Given the description of an element on the screen output the (x, y) to click on. 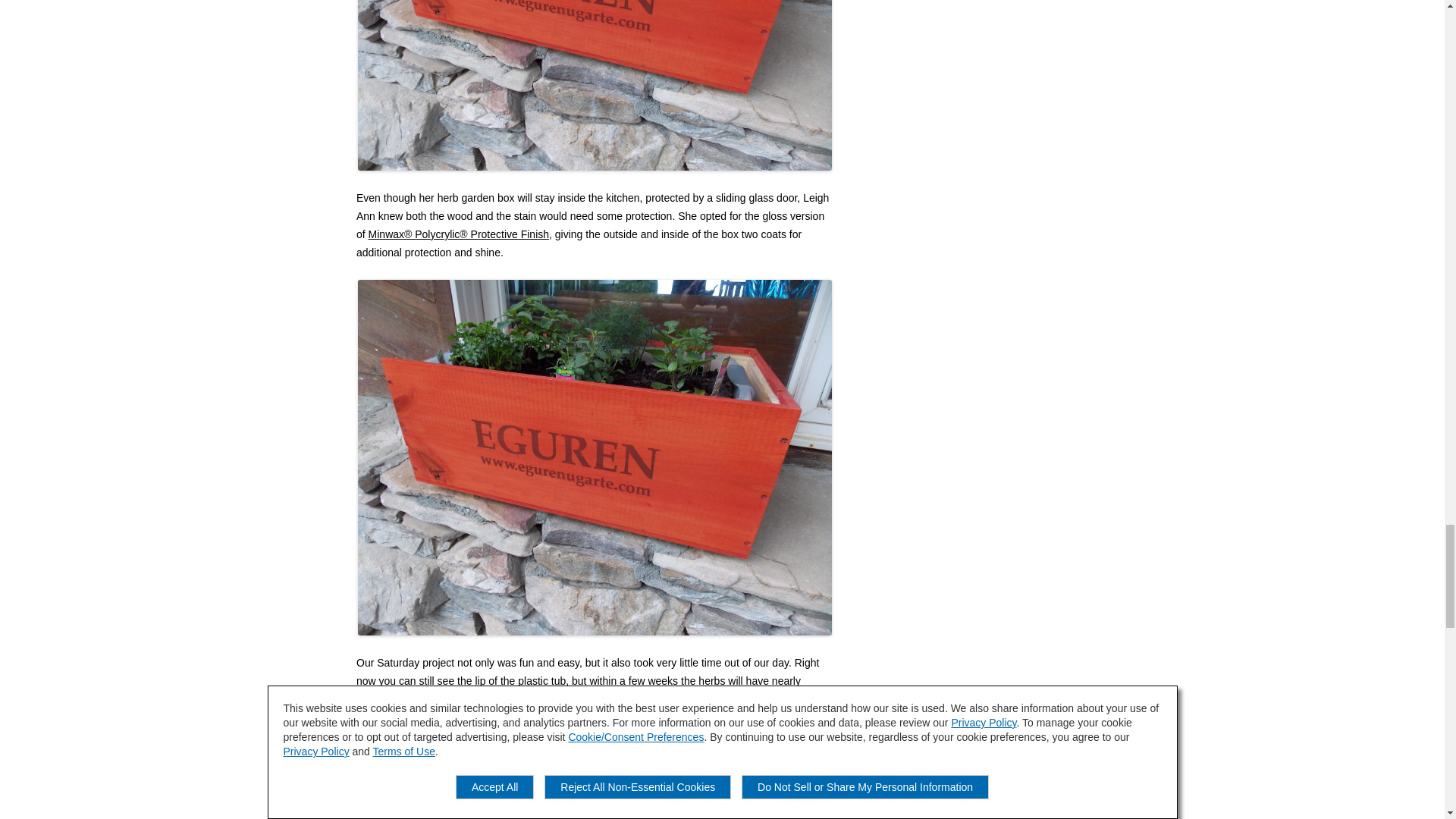
Minwax Polycrylic Protective Finish (458, 234)
